Given the description of an element on the screen output the (x, y) to click on. 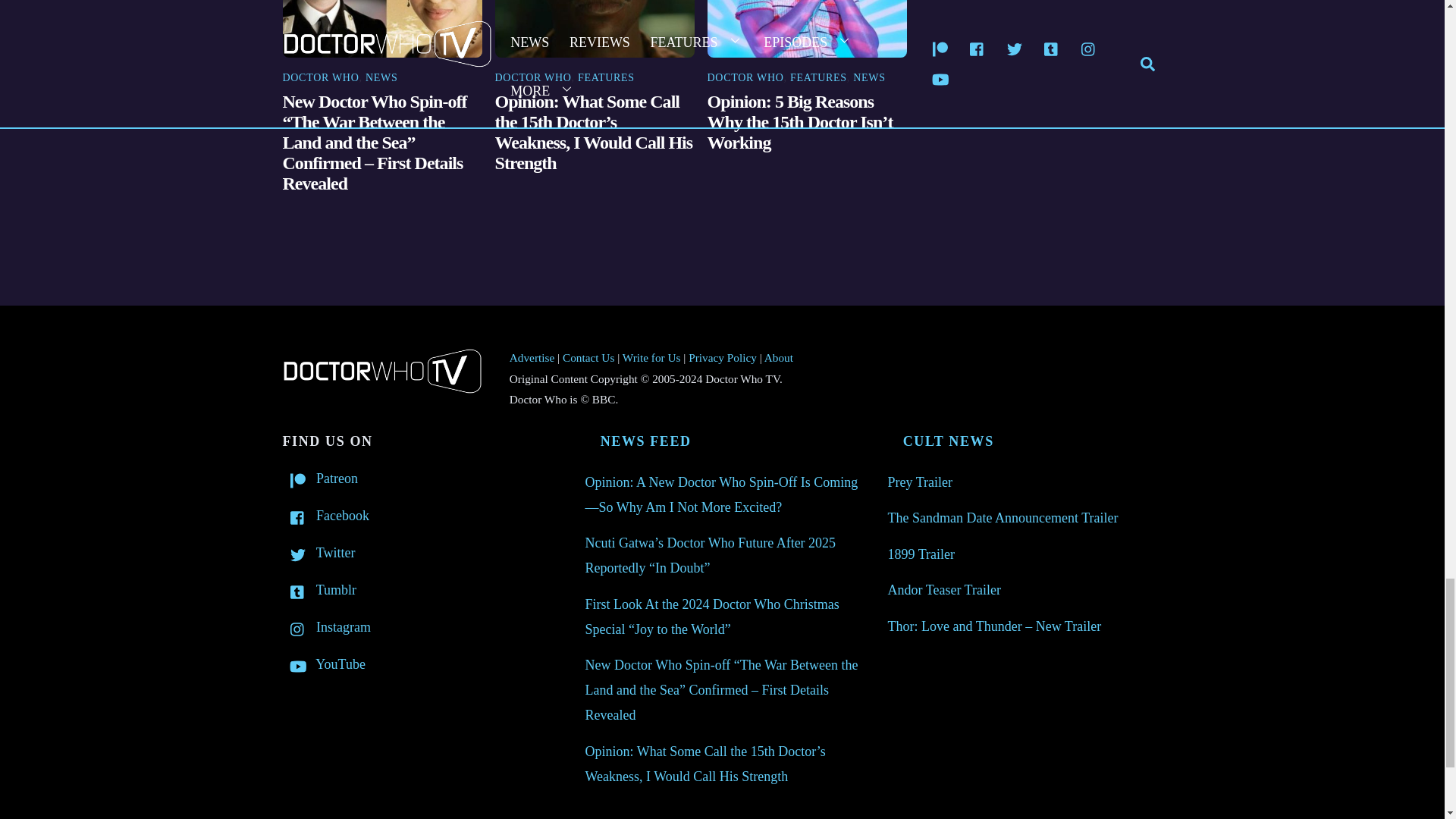
russell-tovey-gugu-mbatha-raw-doctor-who (381, 28)
gatwa-doctor-pose-series-14 (807, 28)
gatwa-crying-dot-and-bubble (595, 28)
